Given the description of an element on the screen output the (x, y) to click on. 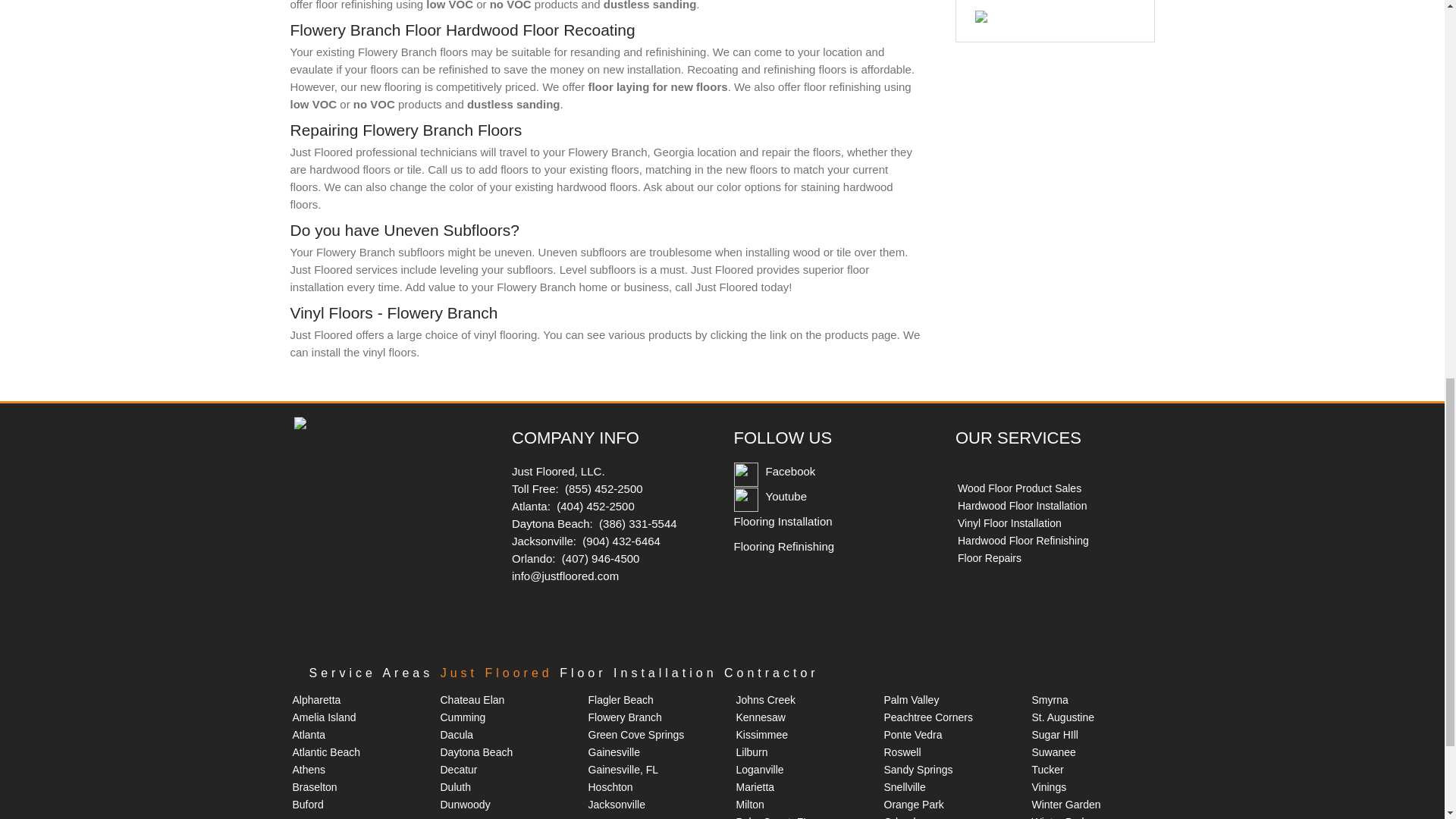
Daytona Beach (475, 752)
dustless sanding (513, 103)
Dacula (456, 734)
low VOC or no VOC products (365, 103)
Chateau Elan (471, 699)
Cumming (461, 717)
Decatur (458, 769)
Atlanta (309, 734)
Athens (309, 769)
Facebook (790, 471)
